Given the description of an element on the screen output the (x, y) to click on. 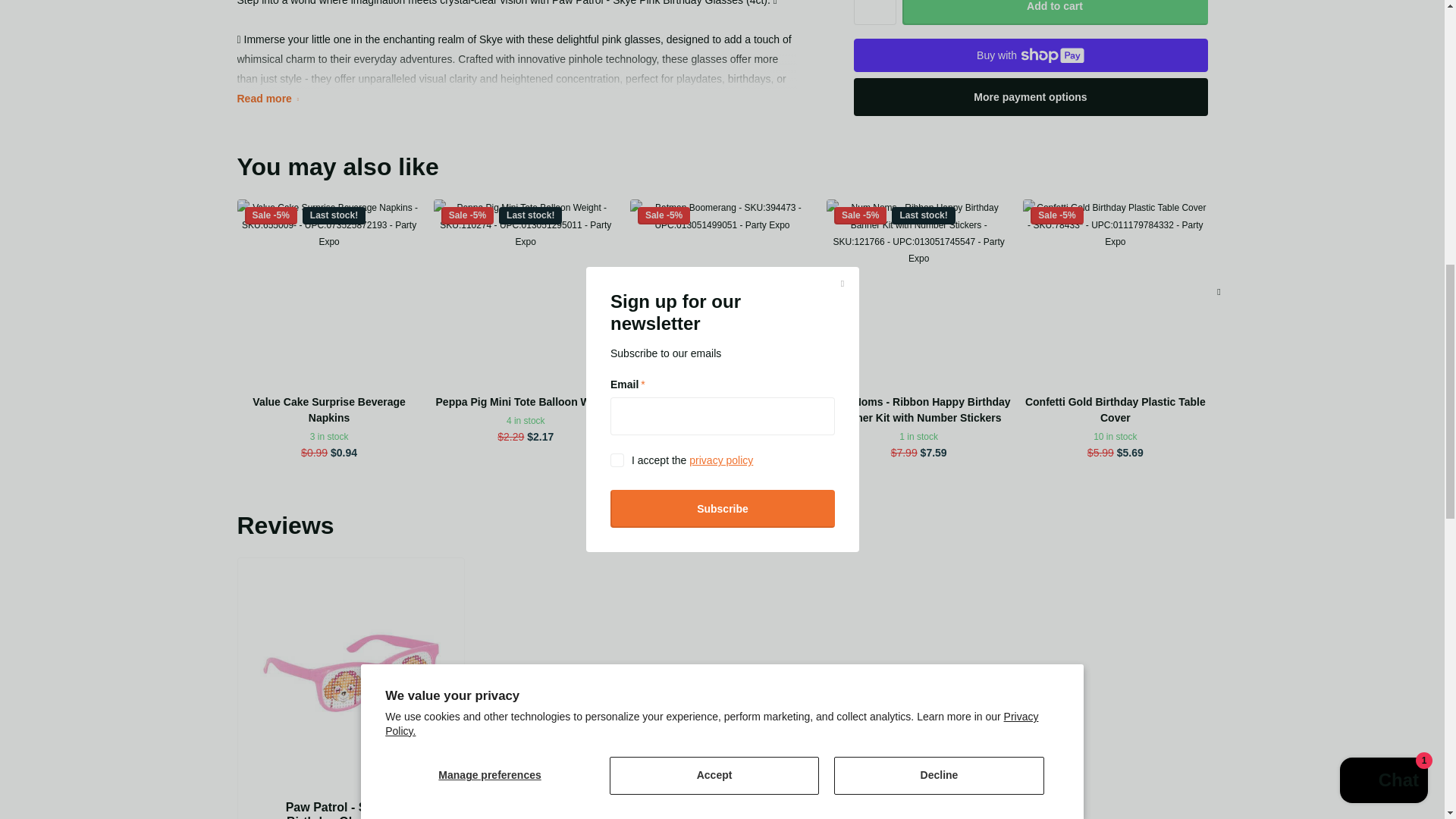
1 (874, 12)
